Given the description of an element on the screen output the (x, y) to click on. 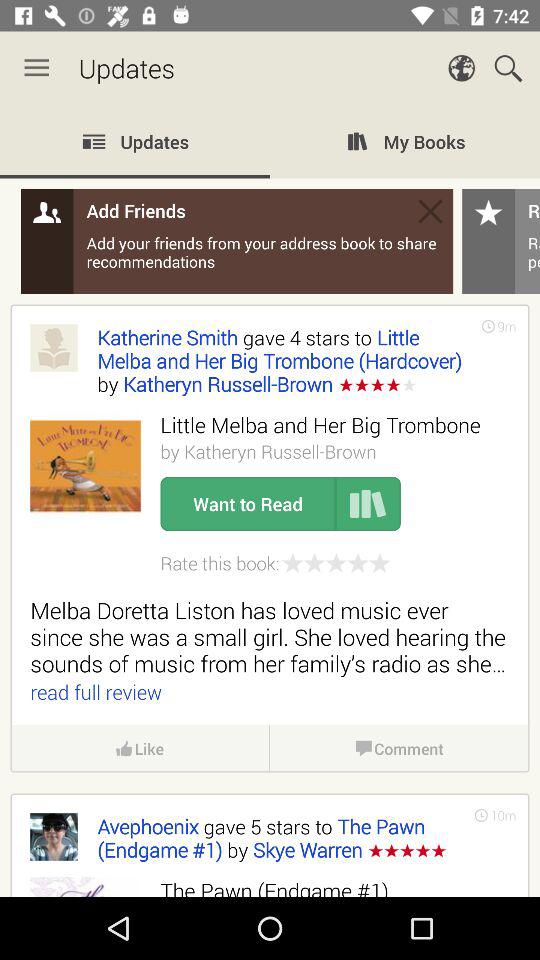
turn off icon below the melba doretta liston (503, 815)
